Given the description of an element on the screen output the (x, y) to click on. 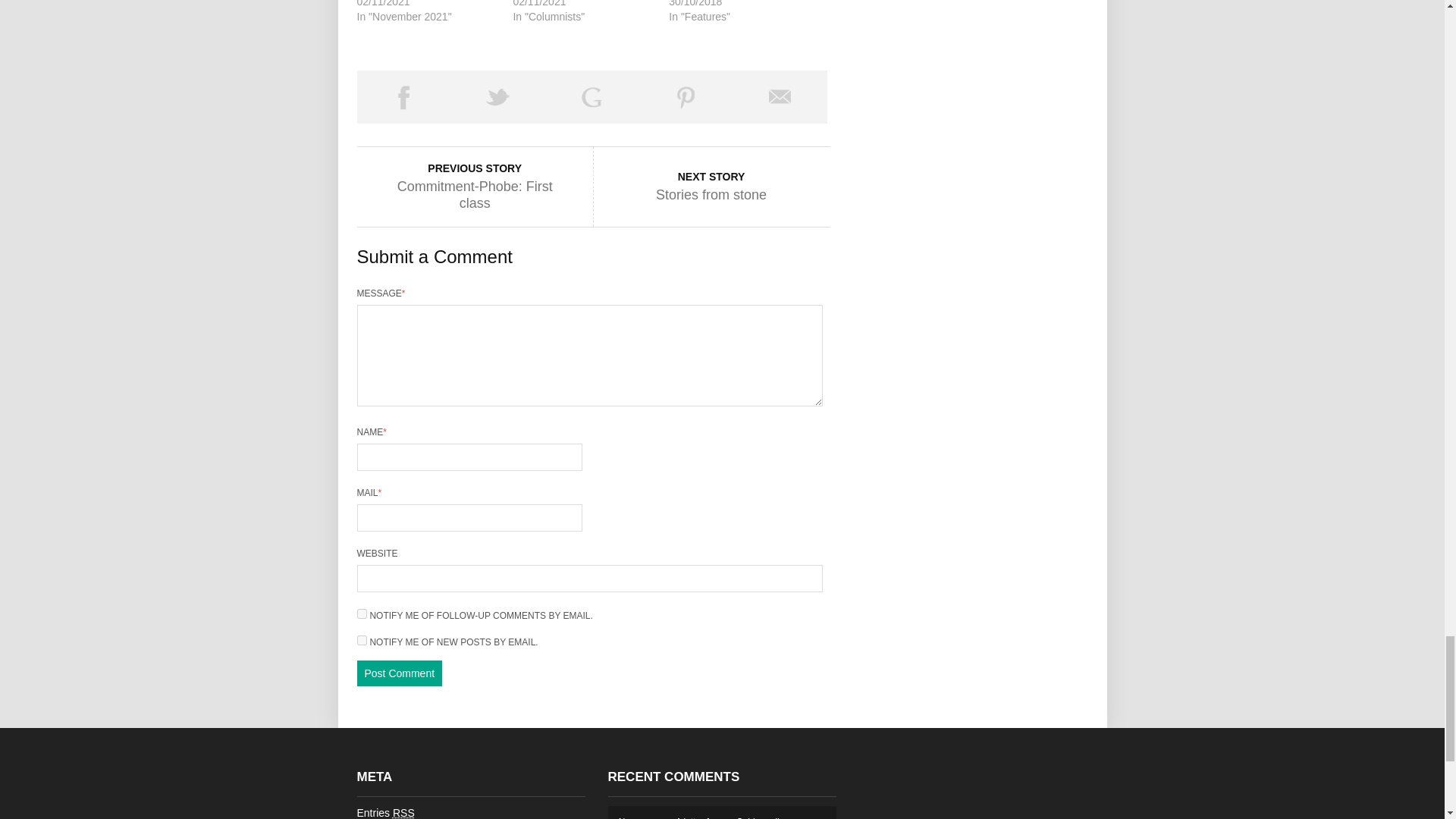
subscribe (361, 640)
Really Simple Syndication (403, 812)
Post Comment (399, 673)
subscribe (361, 614)
